Given the description of an element on the screen output the (x, y) to click on. 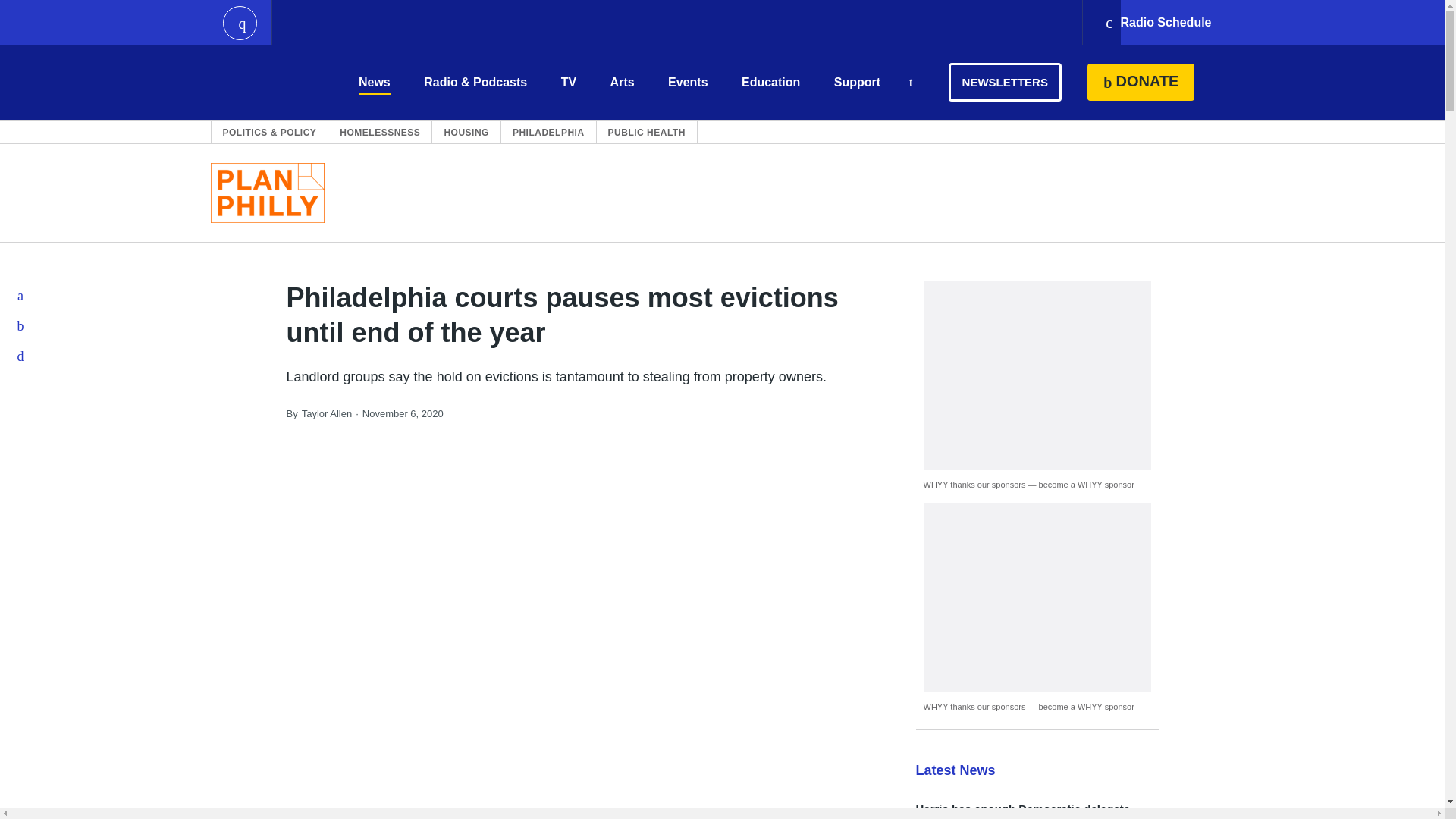
Radio Schedule (1157, 22)
PHILADELPHIA (548, 132)
HOMELESSNESS (379, 132)
Twitter (21, 326)
Facebook (21, 295)
Search (910, 83)
WHYY (266, 82)
Email (21, 356)
plan-philly-masthead-sm (267, 192)
HOUSING (466, 132)
